Given the description of an element on the screen output the (x, y) to click on. 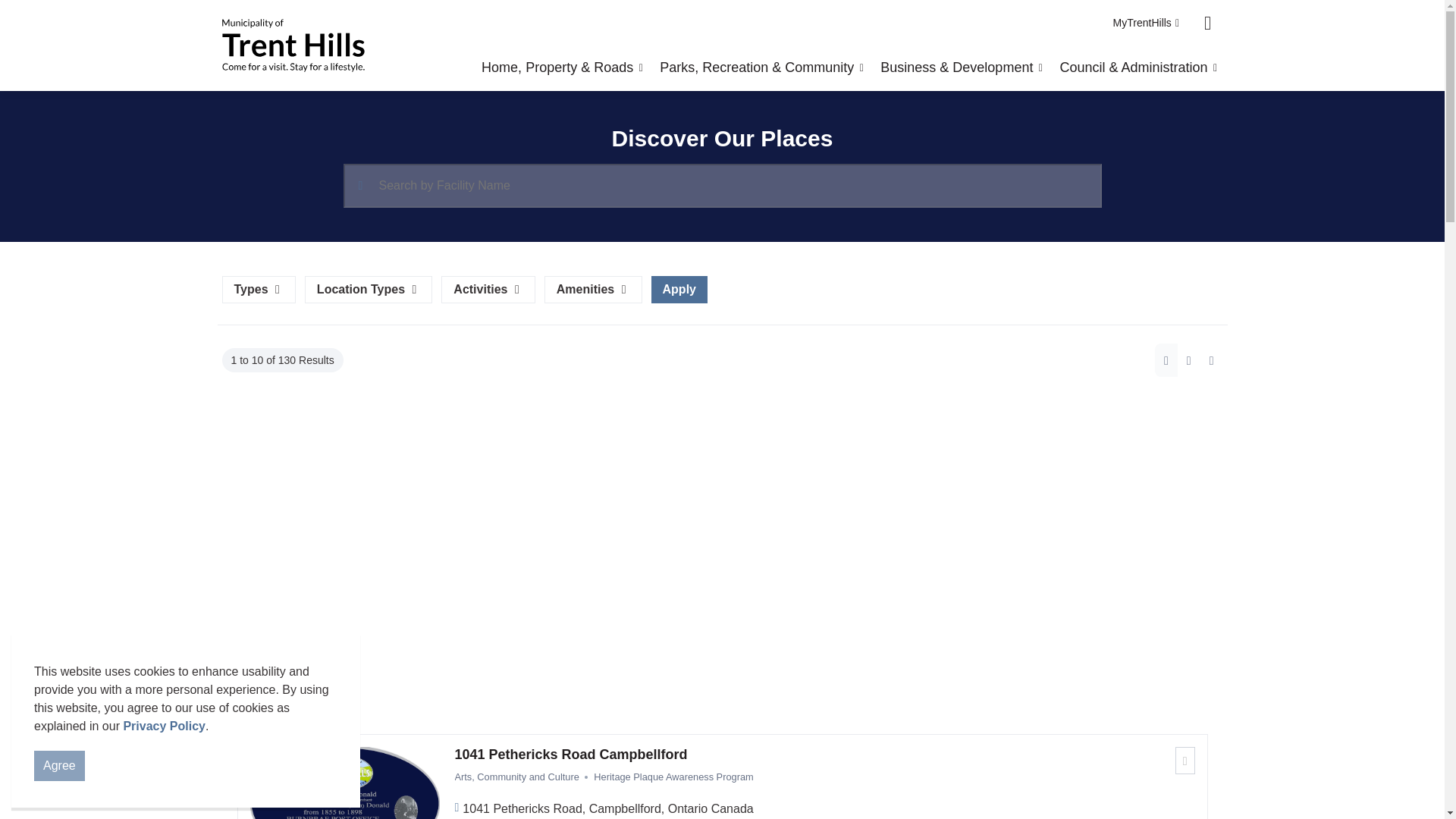
Click to open 1041 Pethericks Road Campbellford (824, 754)
Privacy Policy (163, 725)
Apply (678, 289)
Apply (678, 289)
Municipality of Trent Hills (293, 45)
